Given the description of an element on the screen output the (x, y) to click on. 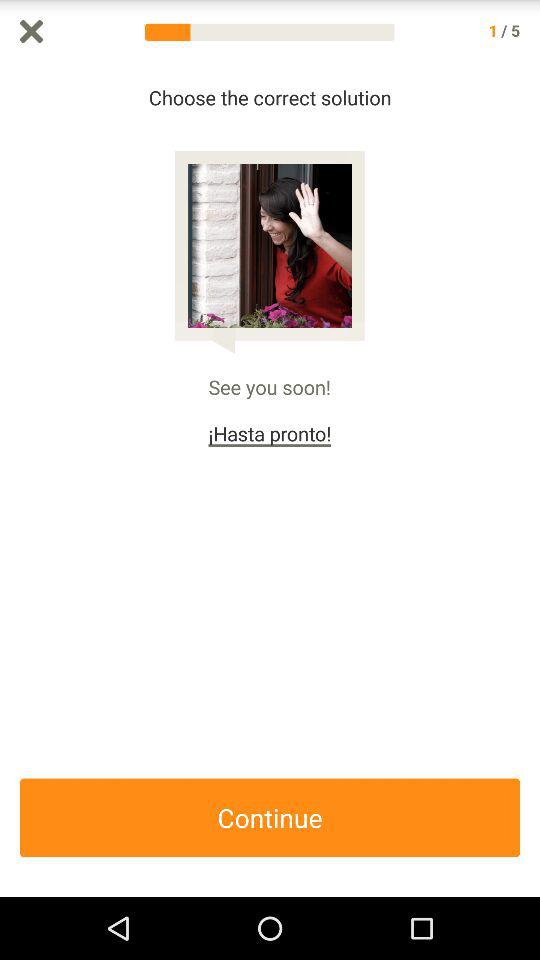
close page option (31, 31)
